Given the description of an element on the screen output the (x, y) to click on. 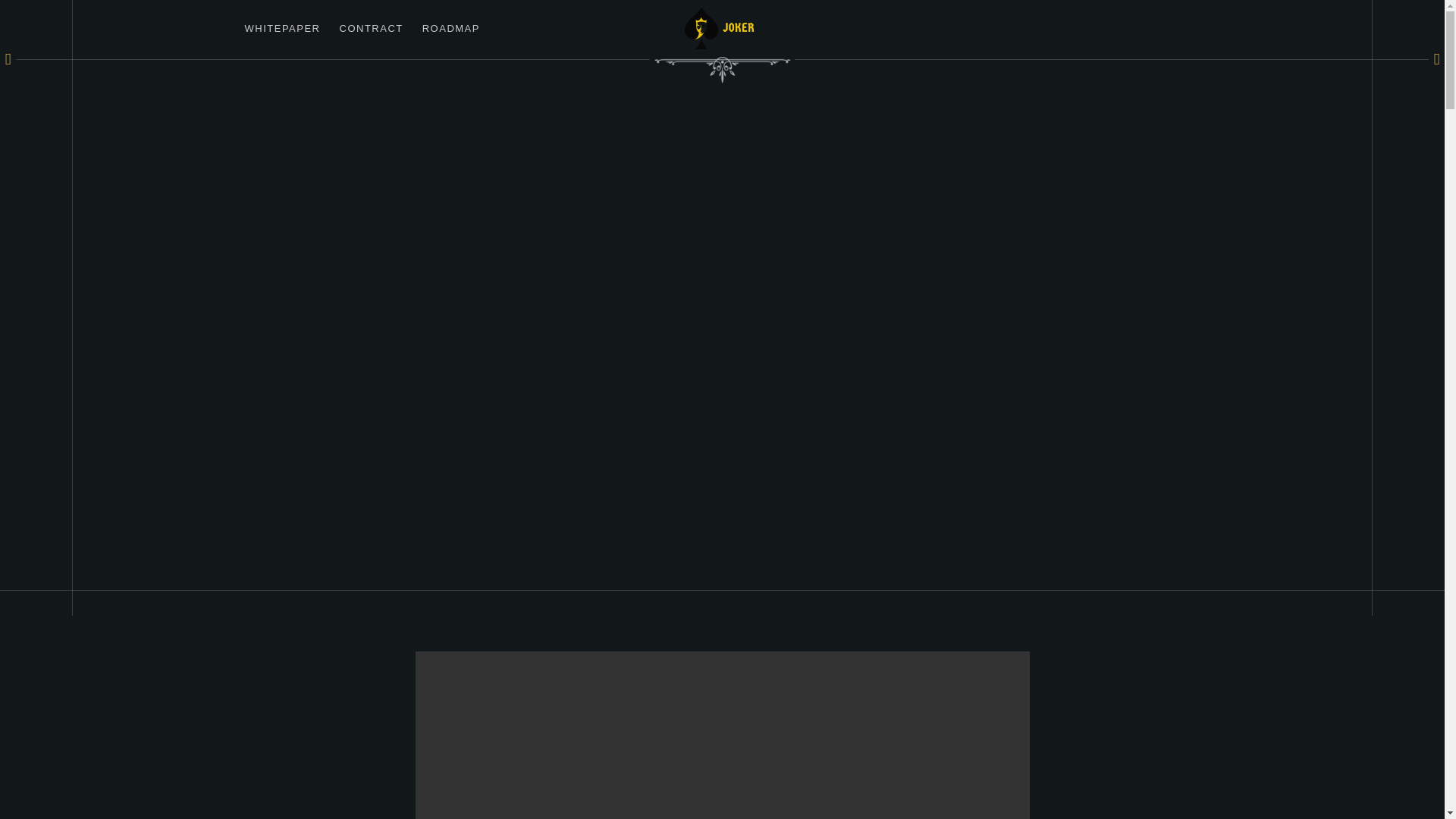
ROADMAP (451, 28)
CONTRACT (371, 28)
WHITEPAPER (282, 28)
